Given the description of an element on the screen output the (x, y) to click on. 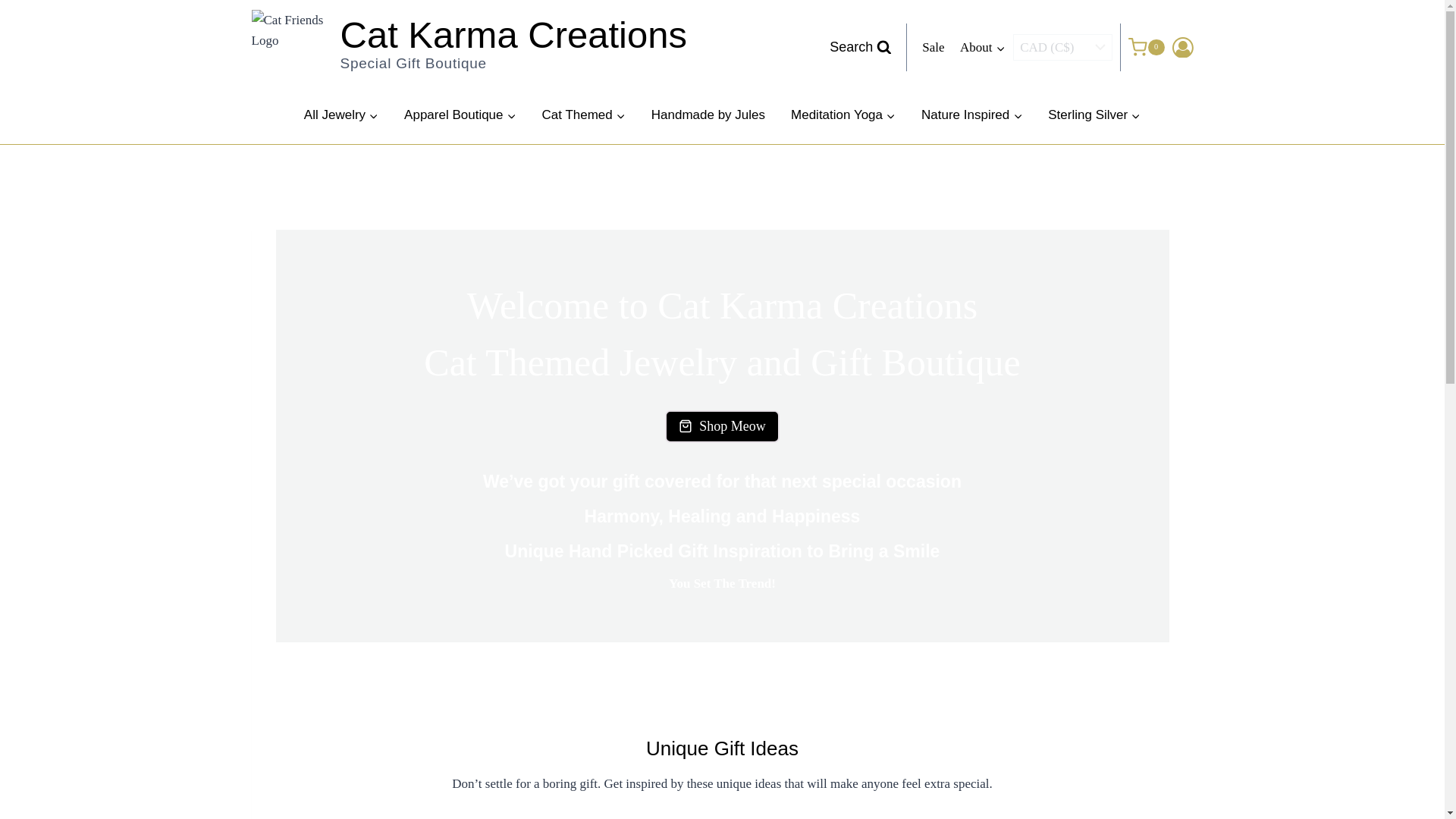
Apparel Boutique (459, 115)
0 (1145, 46)
Meditation Yoga (842, 115)
Cat Themed (584, 115)
About (982, 47)
Nature Inspired (971, 115)
Handmade by Jules (708, 115)
All Jewelry (469, 47)
Search (341, 115)
